Given the description of an element on the screen output the (x, y) to click on. 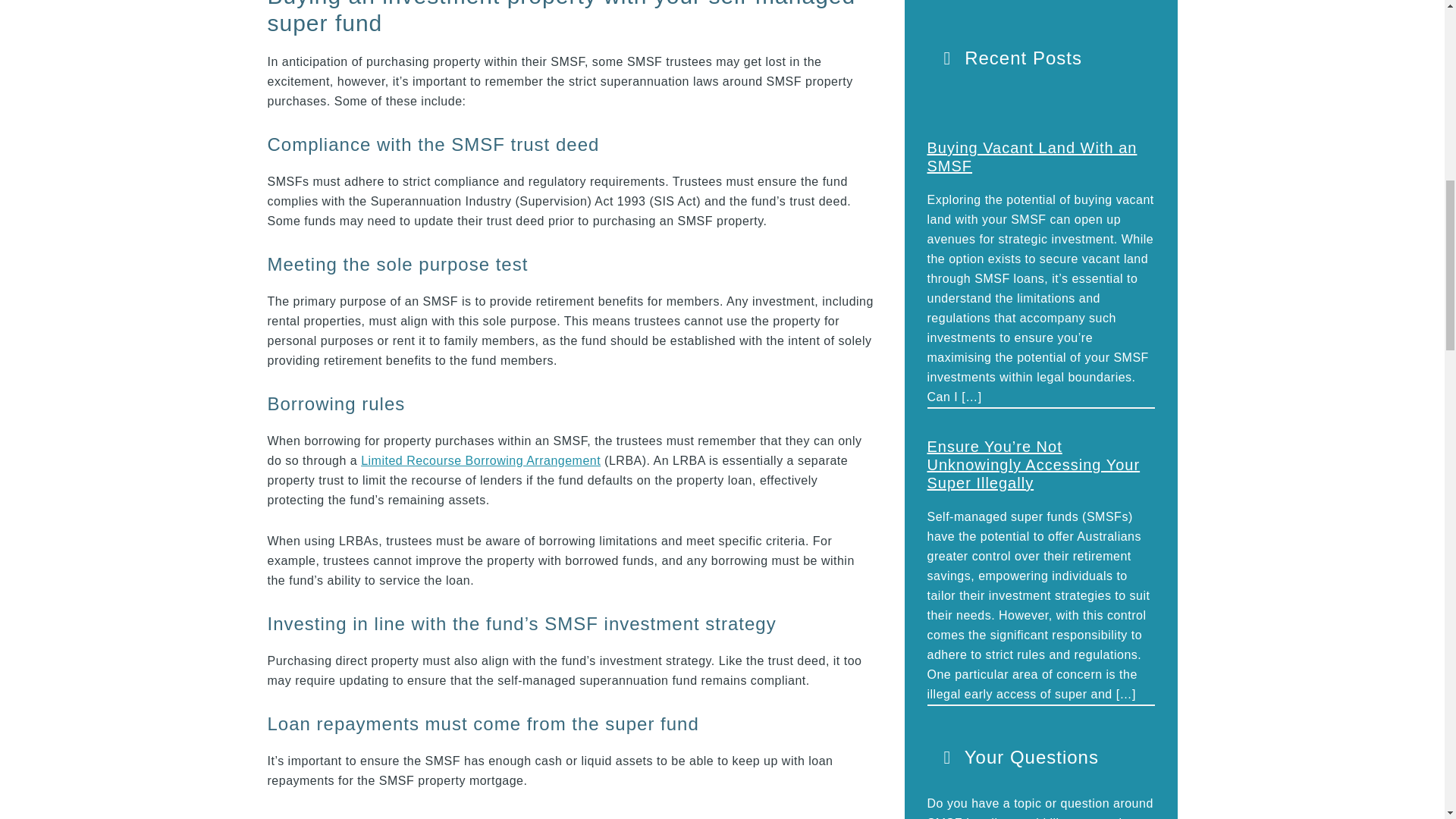
Limited Recourse Borrowing Arrangement (480, 460)
Buying Vacant Land With an SMSF (1031, 156)
